Given the description of an element on the screen output the (x, y) to click on. 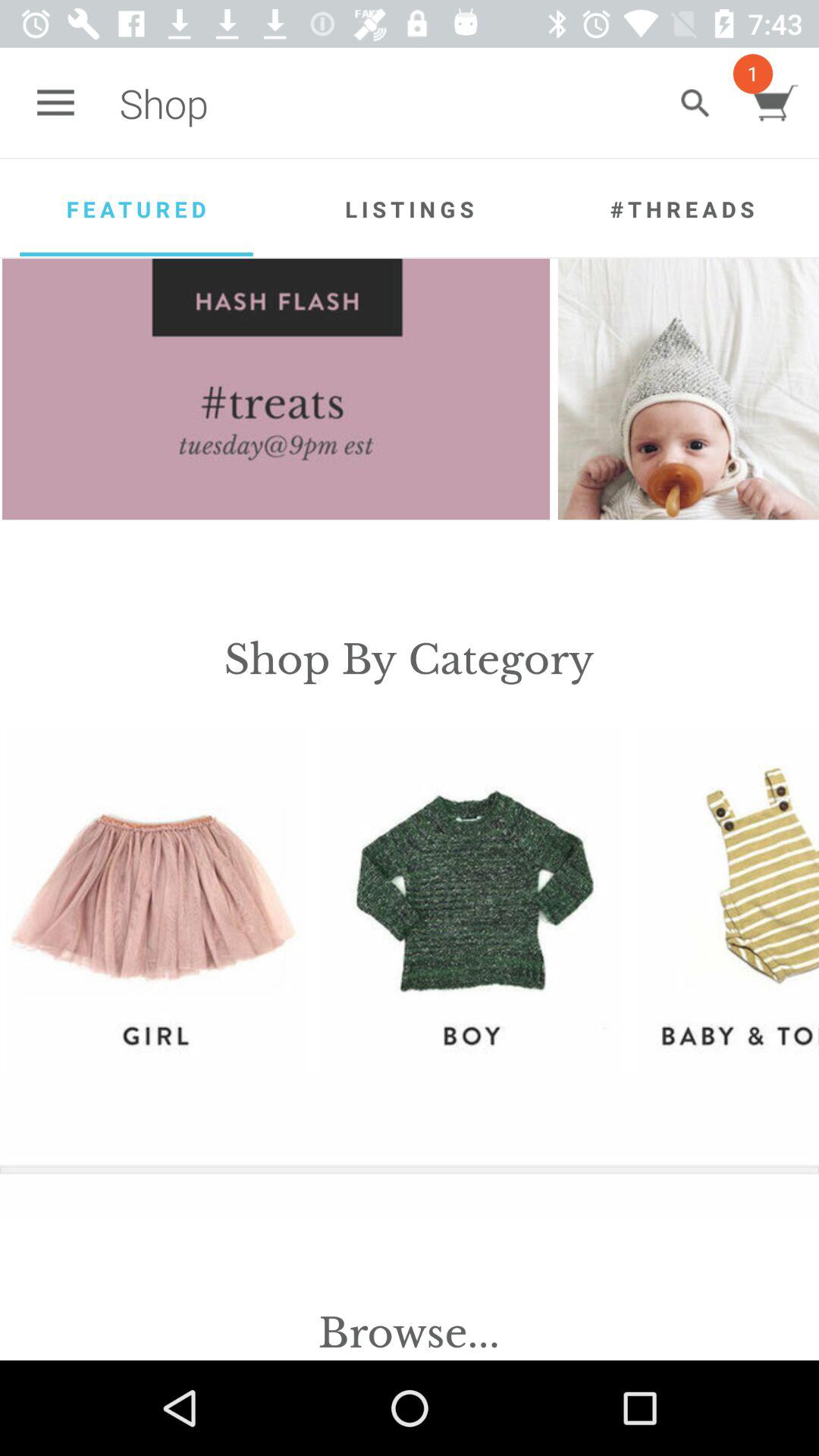
select the picture (688, 388)
